Given the description of an element on the screen output the (x, y) to click on. 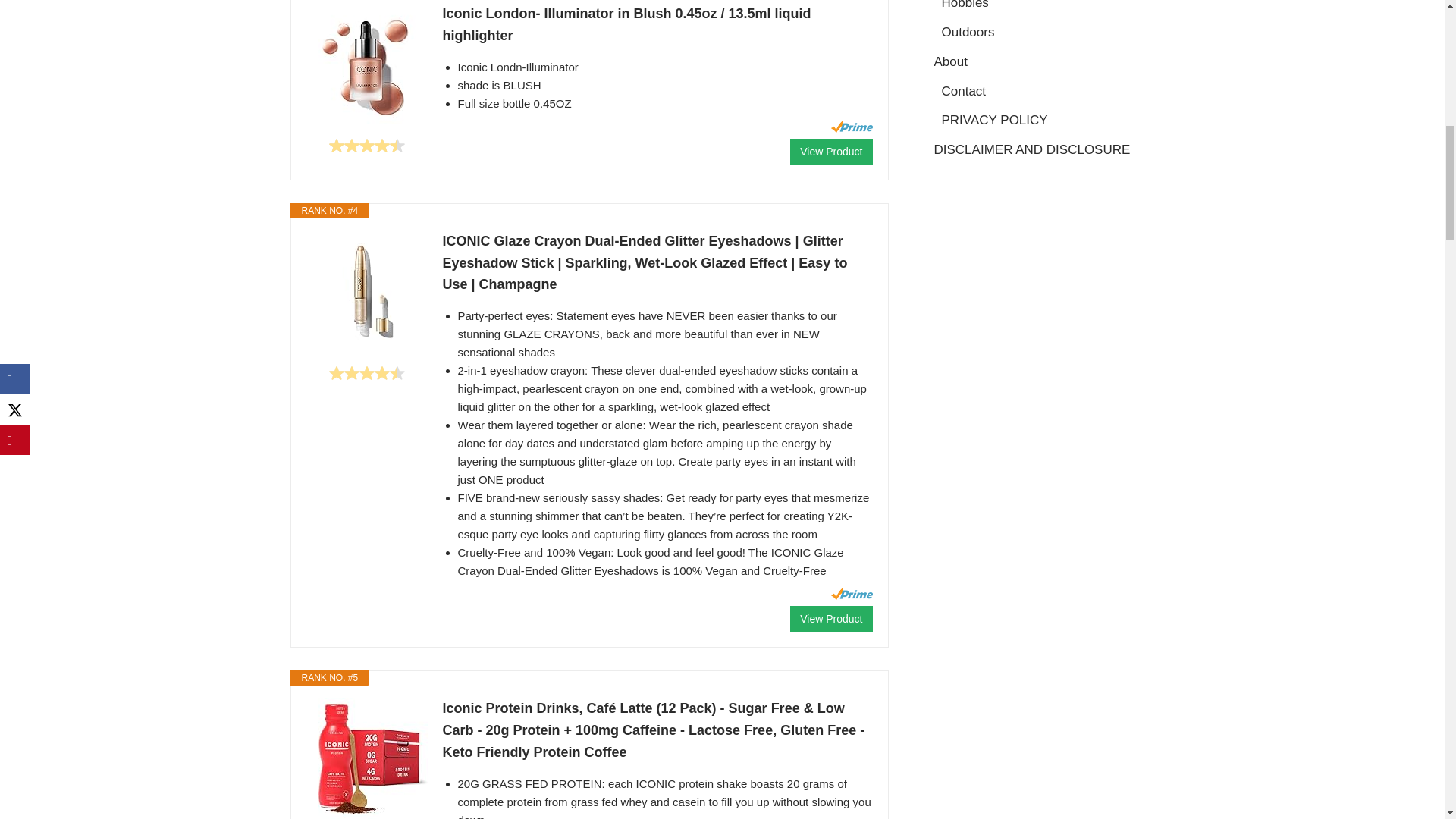
Reviews on Amazon (366, 145)
